Given the description of an element on the screen output the (x, y) to click on. 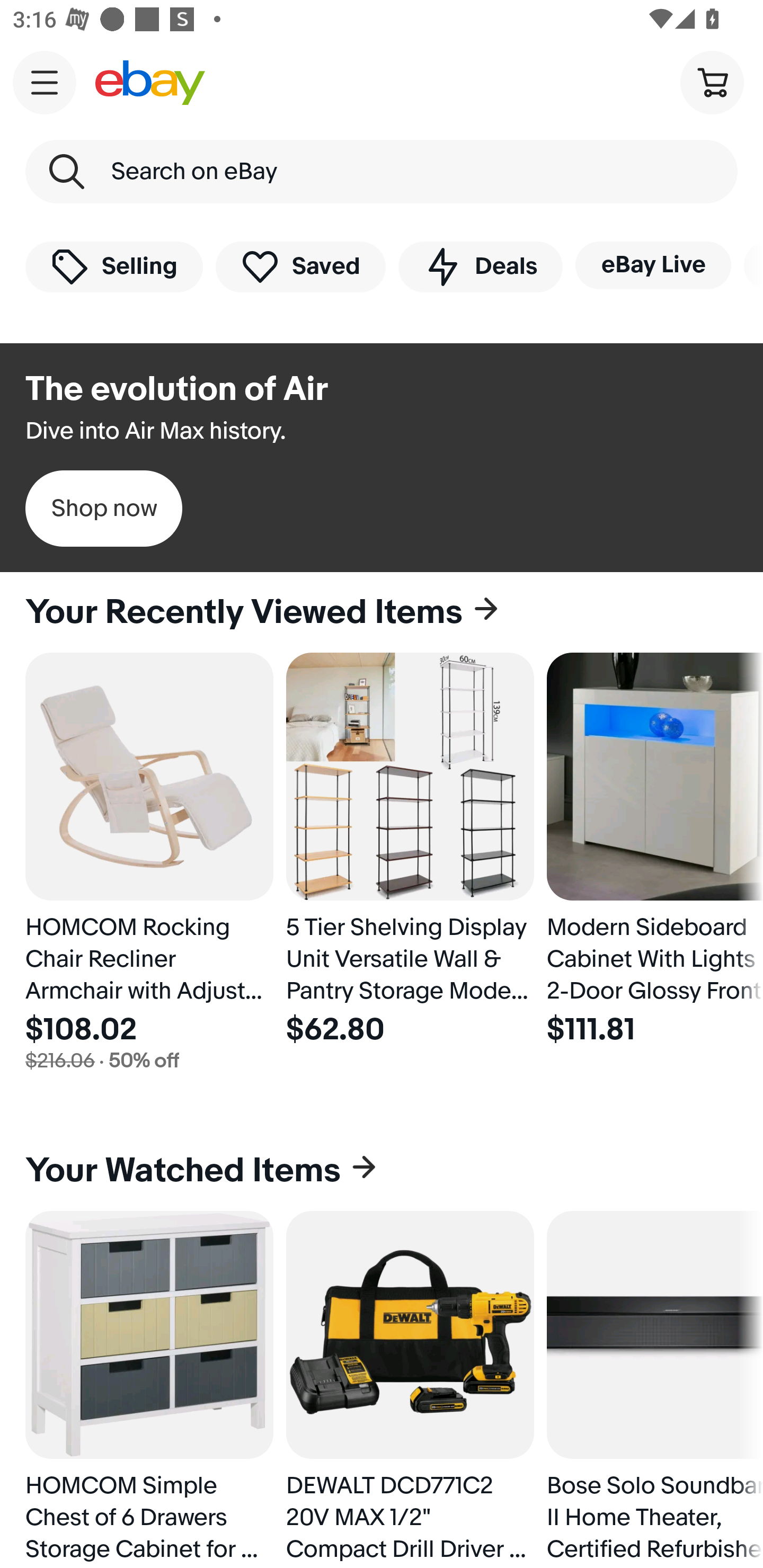
Main navigation, open (44, 82)
Cart button shopping cart (711, 81)
Search on eBay Search Keyword Search on eBay (381, 171)
Selling (113, 266)
Saved (300, 266)
Deals (480, 266)
eBay Live (652, 264)
The evolution of Air (176, 389)
Shop now (103, 508)
Your Recently Viewed Items   (381, 612)
Your Watched Items   (381, 1170)
